Given the description of an element on the screen output the (x, y) to click on. 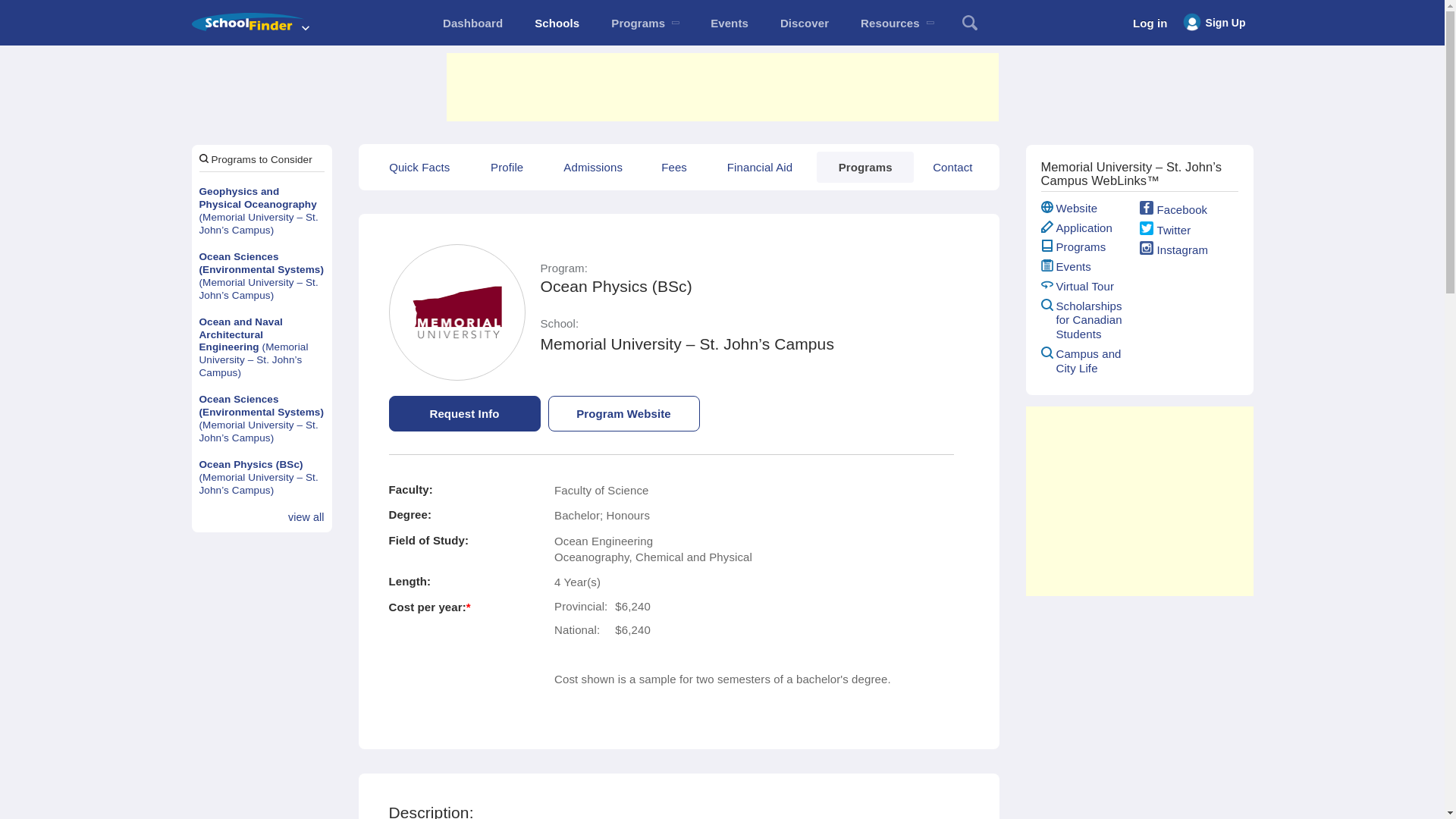
Programs (865, 166)
Advertisement (721, 87)
Contact (952, 166)
Admissions (592, 166)
Discover (804, 22)
Programs (644, 22)
view all (306, 517)
Events (729, 22)
mySTUFF (472, 22)
Schools (556, 22)
